Given the description of an element on the screen output the (x, y) to click on. 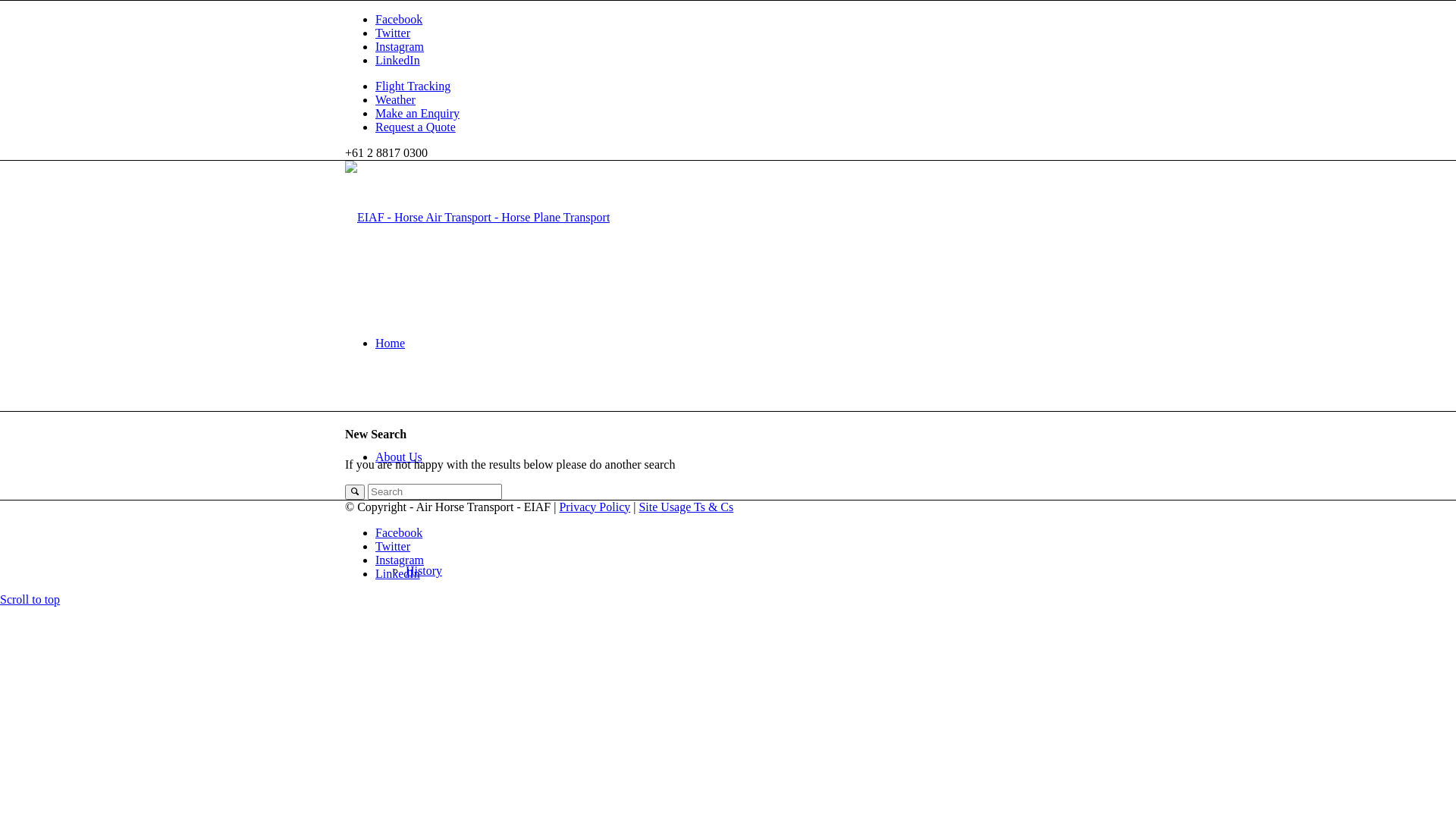
Make an Enquiry Element type: text (417, 112)
logo Element type: hover (477, 217)
Scroll to top Element type: text (29, 599)
LinkedIn Element type: text (397, 573)
Privacy Policy Element type: text (594, 506)
Facebook Element type: text (398, 532)
Flight Tracking Element type: text (412, 85)
Weather Element type: text (395, 99)
LinkedIn Element type: text (397, 59)
Twitter Element type: text (392, 32)
Site Usage Ts & Cs Element type: text (685, 506)
Instagram Element type: text (399, 559)
History Element type: text (423, 570)
Facebook Element type: text (398, 18)
About Us Element type: text (398, 456)
Instagram Element type: text (399, 46)
Twitter Element type: text (392, 545)
Home Element type: text (389, 342)
Request a Quote Element type: text (415, 126)
logo Element type: hover (477, 216)
